Given the description of an element on the screen output the (x, y) to click on. 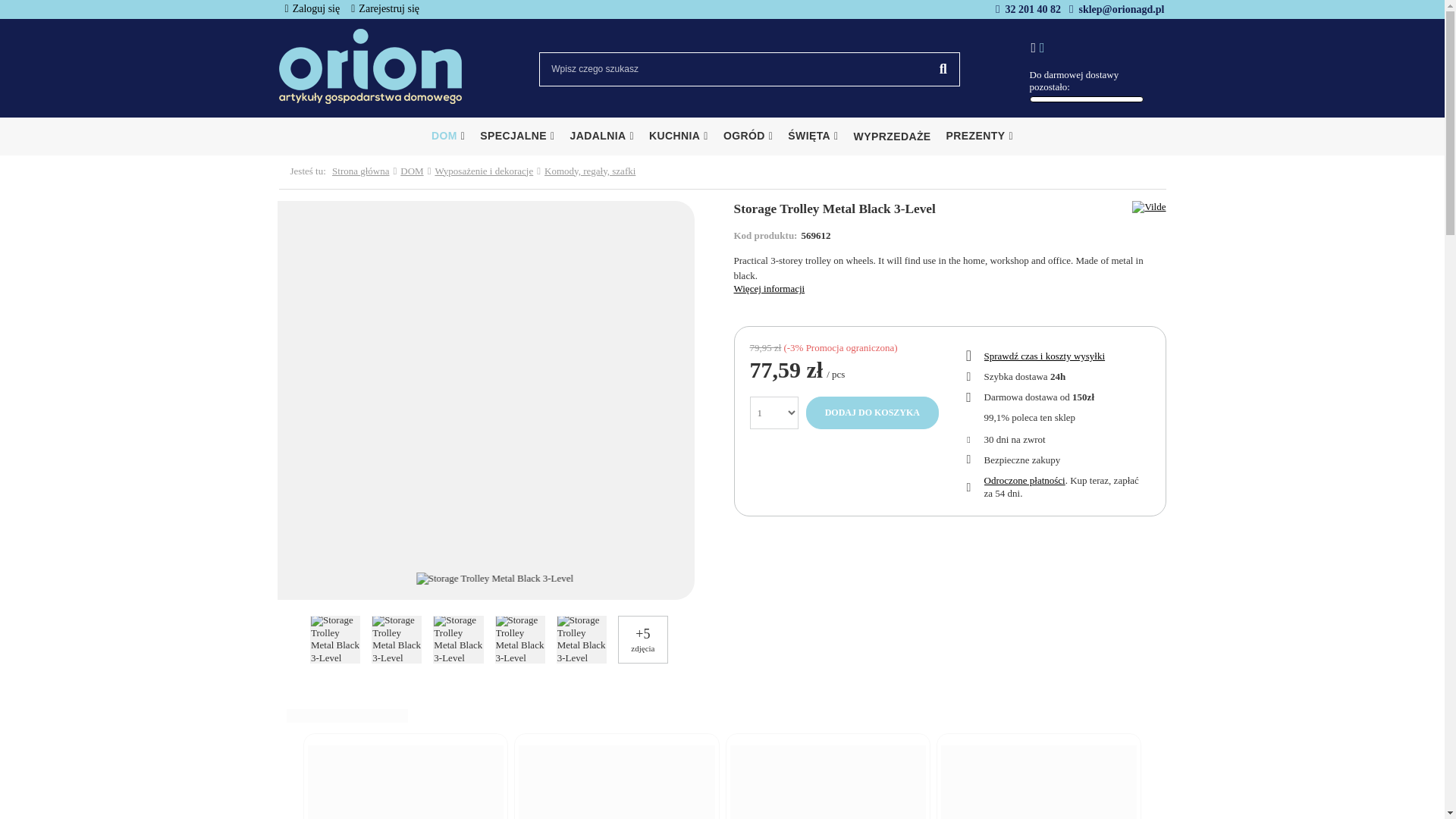
DOM (447, 136)
SPECJALNE (516, 136)
JADALNIA (602, 136)
Vilde (1149, 206)
KUCHNIA (679, 136)
32 201 40 82 (1033, 9)
DOM (447, 136)
PREZENTY (979, 136)
